Given the description of an element on the screen output the (x, y) to click on. 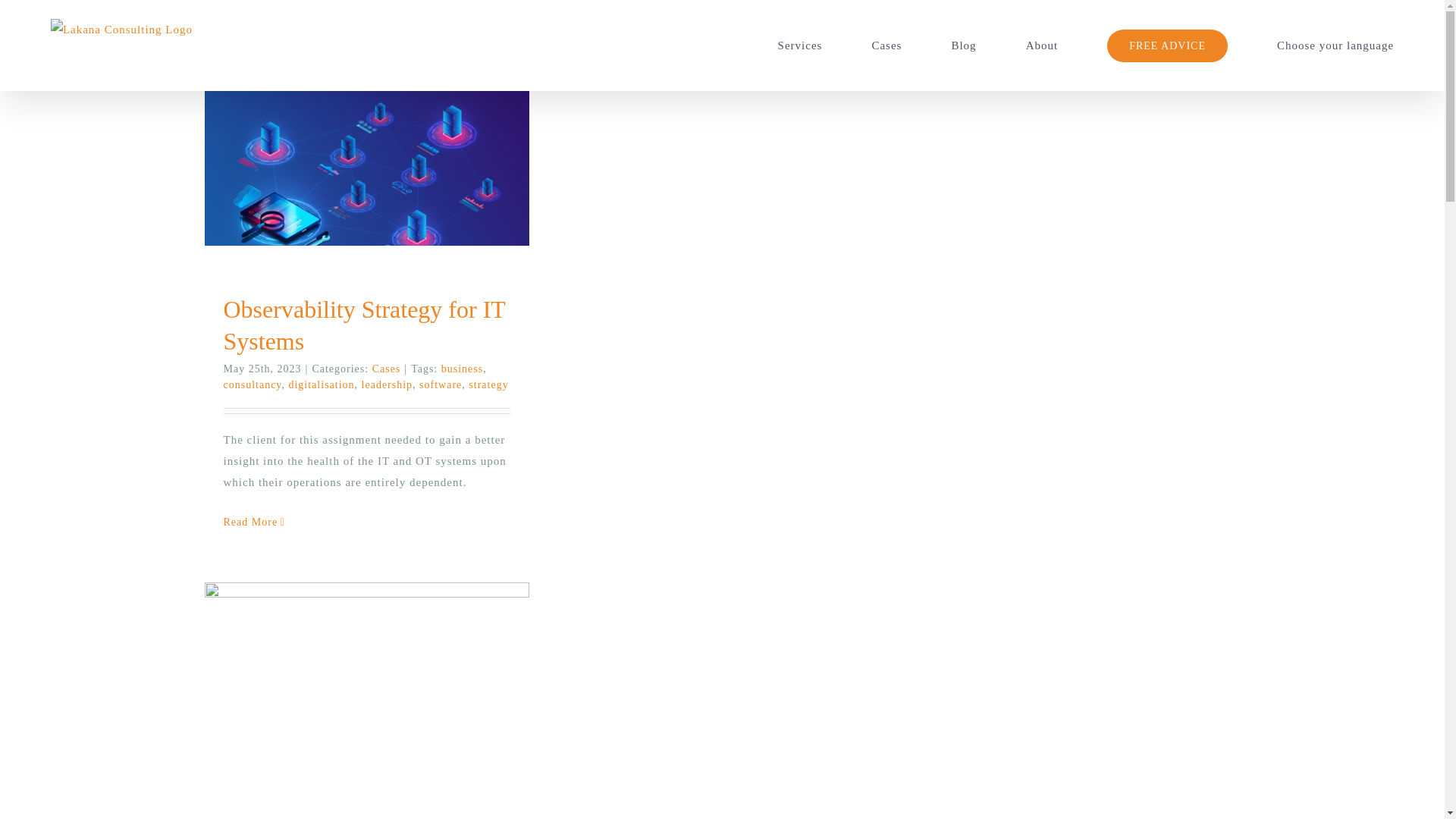
digitalisation (320, 384)
leadership (387, 384)
strategy (488, 384)
software (440, 384)
consultancy (251, 384)
Read More (250, 521)
FREE ADVICE (1166, 45)
business (462, 368)
Observability Strategy for IT Systems (363, 324)
Cases (386, 368)
